Given the description of an element on the screen output the (x, y) to click on. 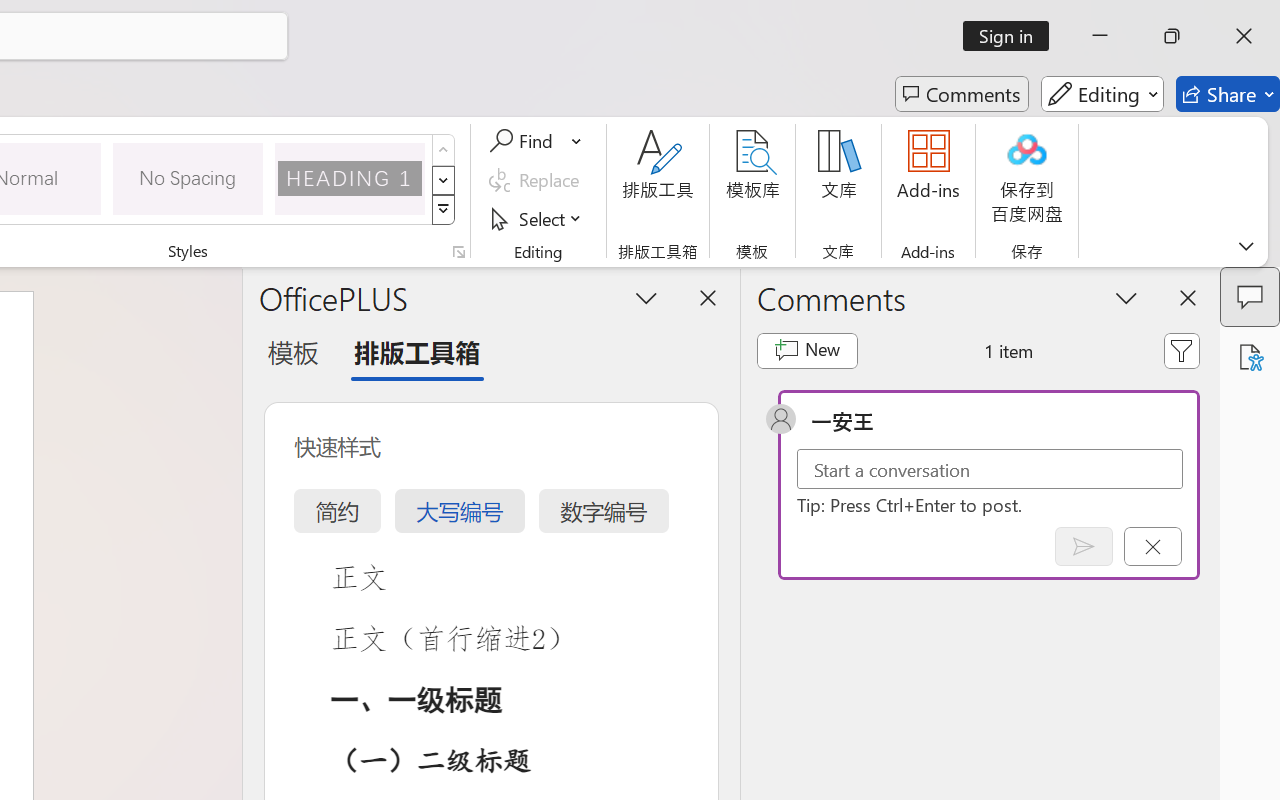
Editing (1101, 94)
Sign in (1012, 35)
New comment (806, 350)
Filter (1181, 350)
